Given the description of an element on the screen output the (x, y) to click on. 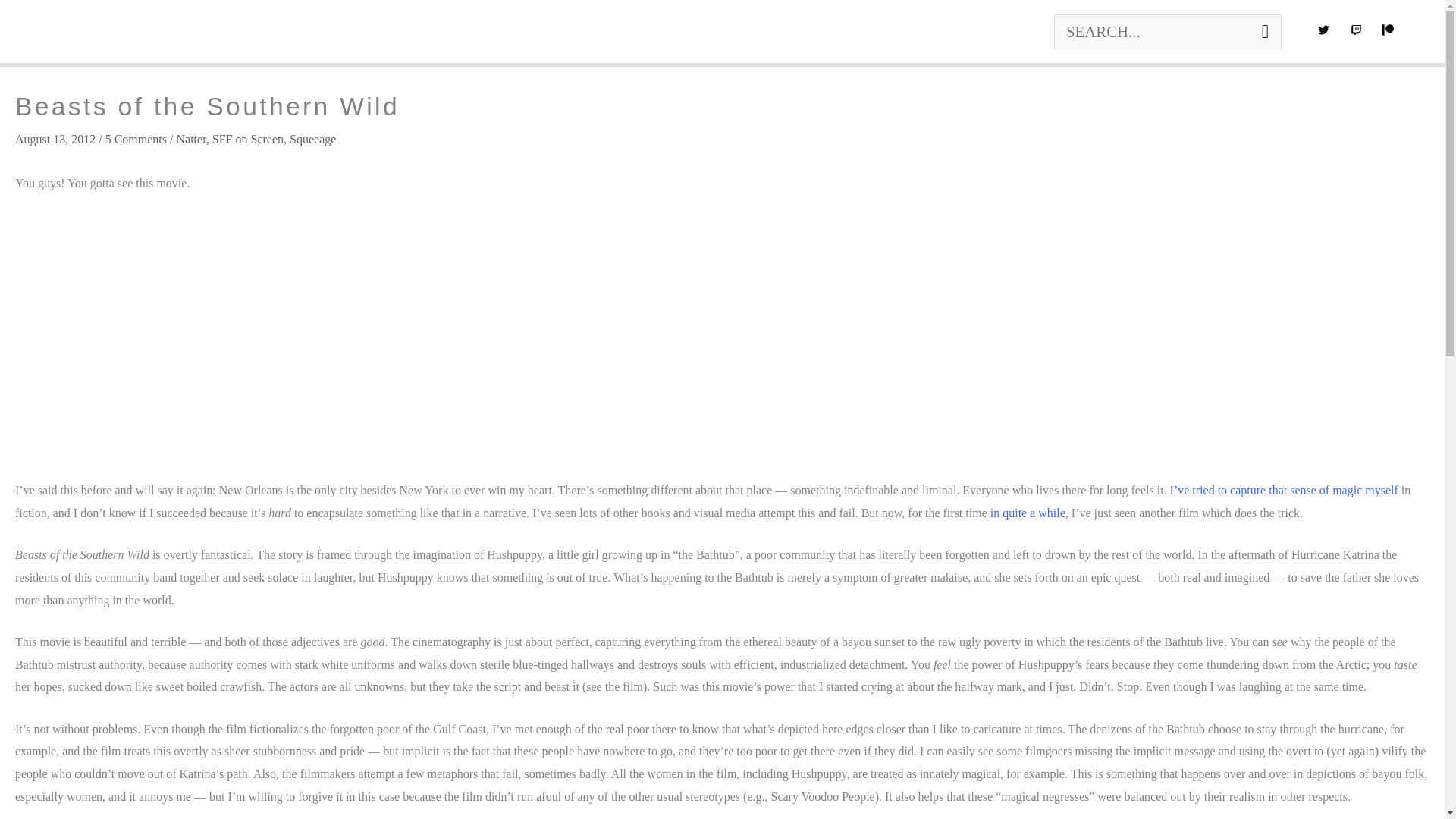
BLOG (325, 31)
ABOUT (141, 31)
Squeeage (312, 137)
Natter (190, 137)
5 Comments (135, 137)
SFF on Screen (247, 137)
in quite a while (1027, 512)
BOOKS (239, 31)
HOME (53, 31)
